Given the description of an element on the screen output the (x, y) to click on. 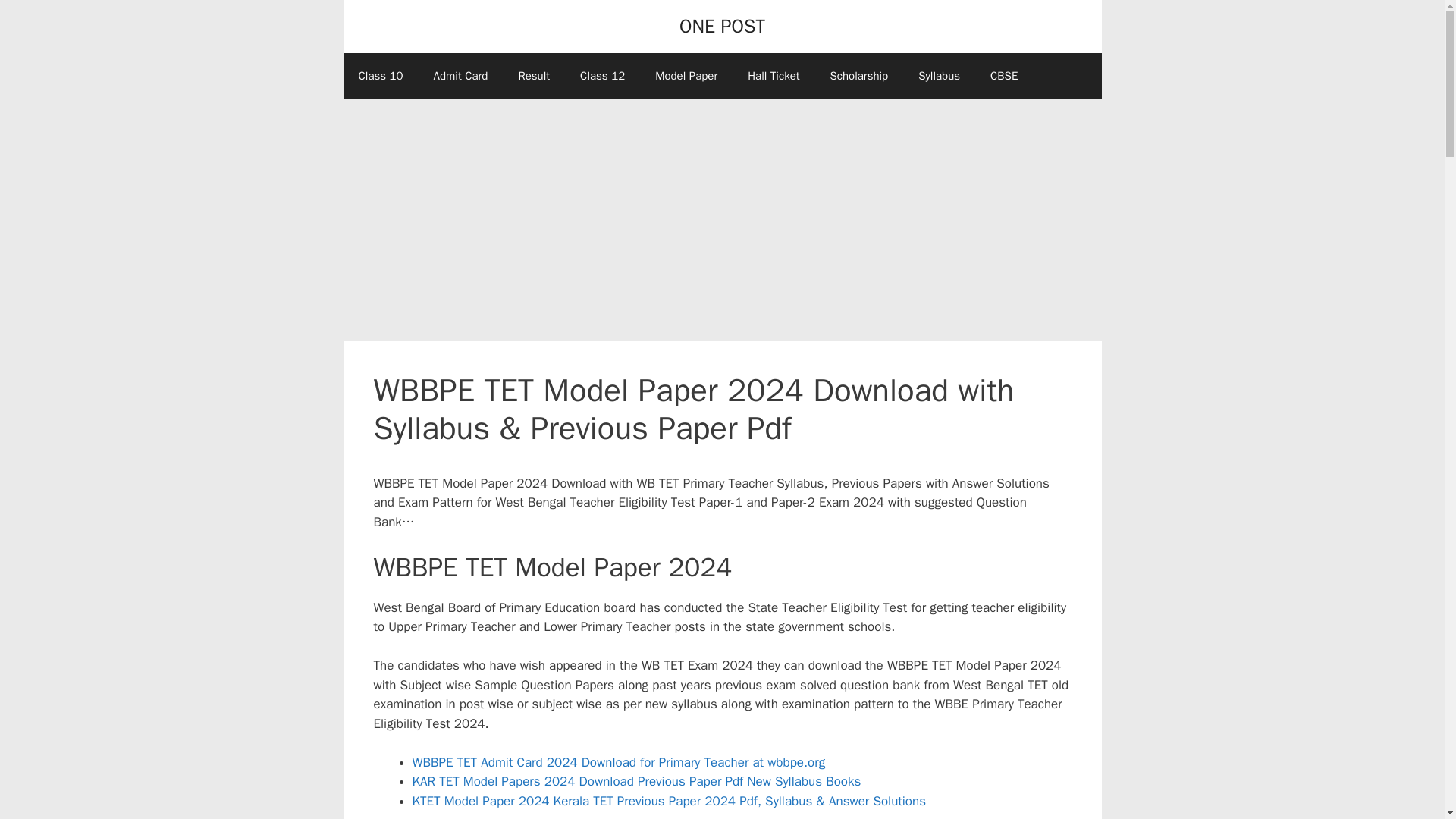
CBSE (1003, 75)
Class 12 (602, 75)
Result (533, 75)
Syllabus (938, 75)
ONE POST (722, 25)
Admit Card (461, 75)
Class 10 (379, 75)
